Given the description of an element on the screen output the (x, y) to click on. 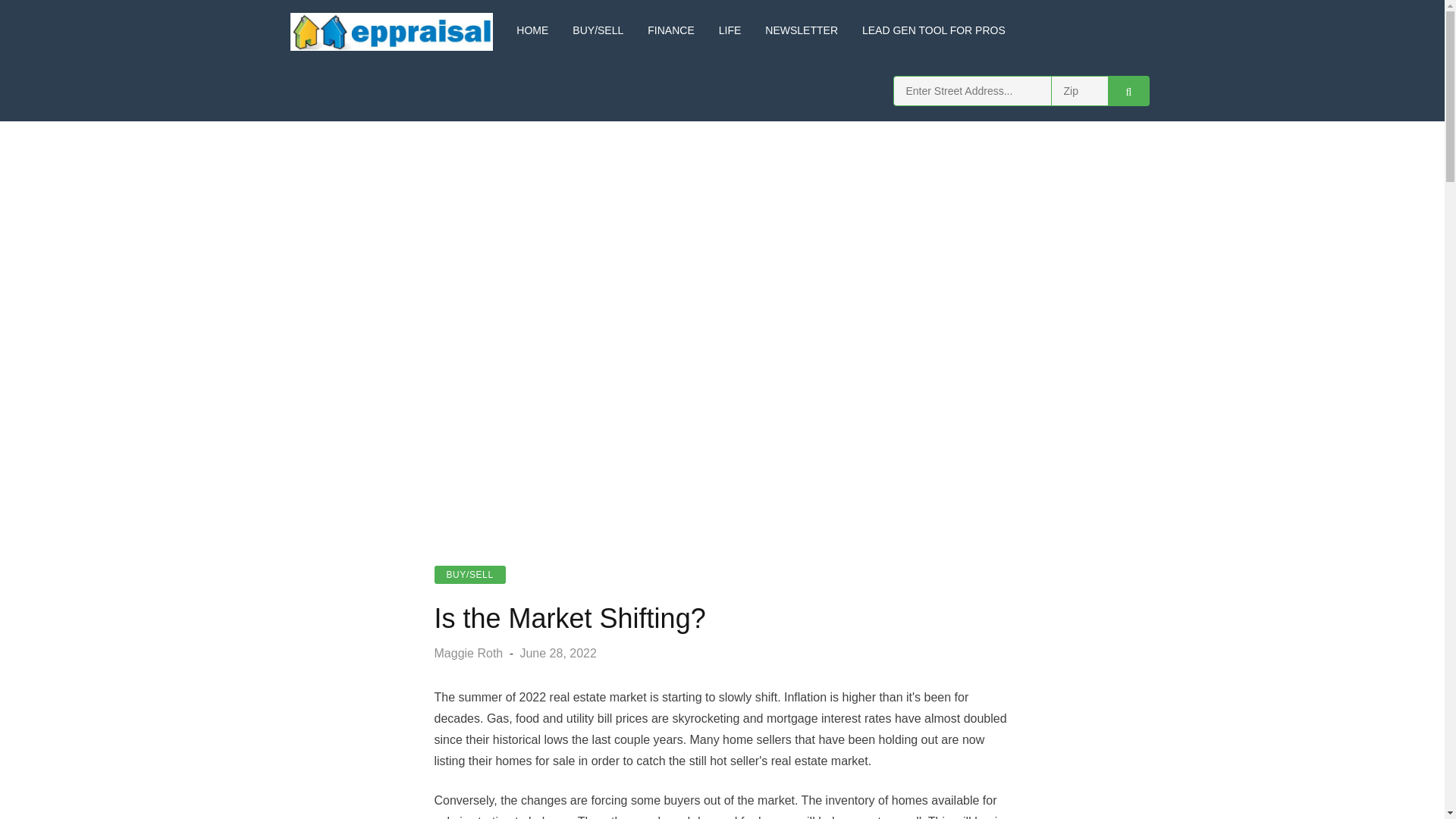
HOME (532, 30)
Maggie Roth (470, 653)
NEWSLETTER (801, 30)
LEAD GEN TOOL FOR PROS (933, 30)
LIFE (730, 30)
FINANCE (670, 30)
